Given the description of an element on the screen output the (x, y) to click on. 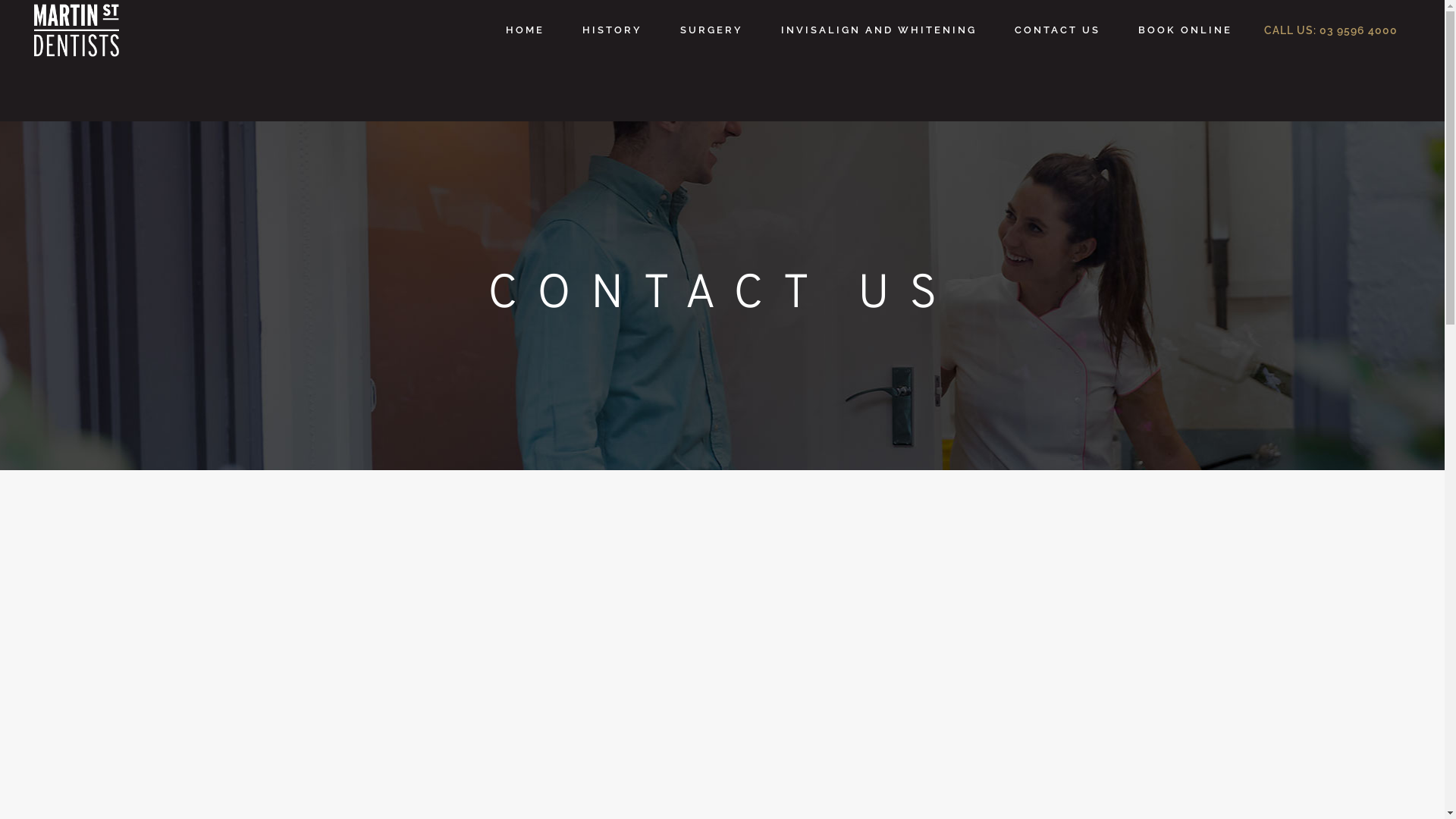
HOME Element type: text (524, 30)
HISTORY Element type: text (612, 30)
INVISALIGN AND WHITENING Element type: text (878, 30)
CONTACT US Element type: text (1057, 30)
SURGERY Element type: text (711, 30)
BOOK ONLINE Element type: text (1185, 60)
CALL US: 03 9596 4000 Element type: text (1330, 30)
